Given the description of an element on the screen output the (x, y) to click on. 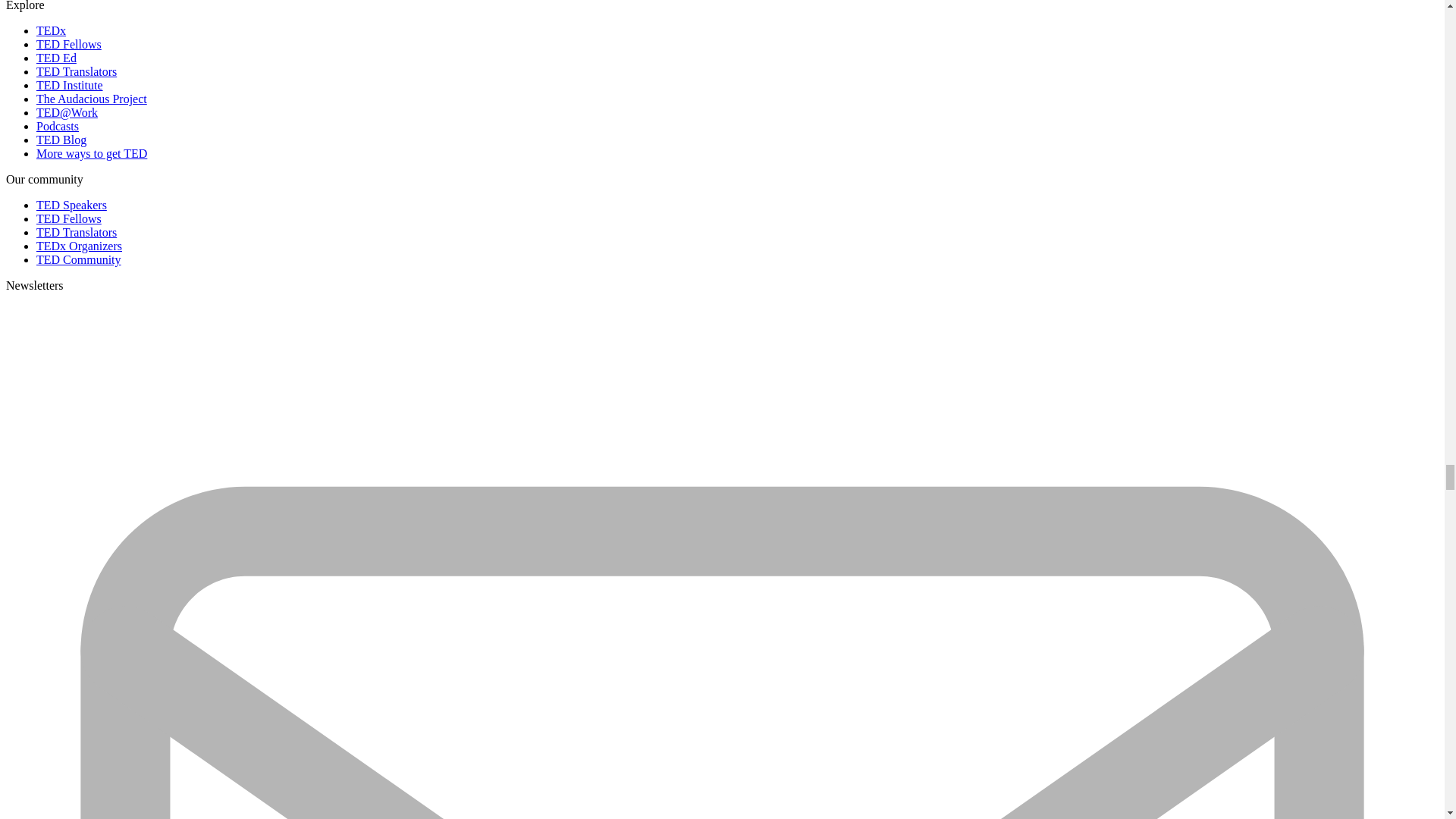
TED Translators (76, 71)
TED Fellows (68, 43)
TED Blog (60, 139)
TED Speakers (71, 205)
Podcasts (57, 125)
TED Institute (69, 84)
TED Ed (56, 57)
More ways to get TED (91, 153)
The Audacious Project (91, 98)
TEDx (50, 30)
